Given the description of an element on the screen output the (x, y) to click on. 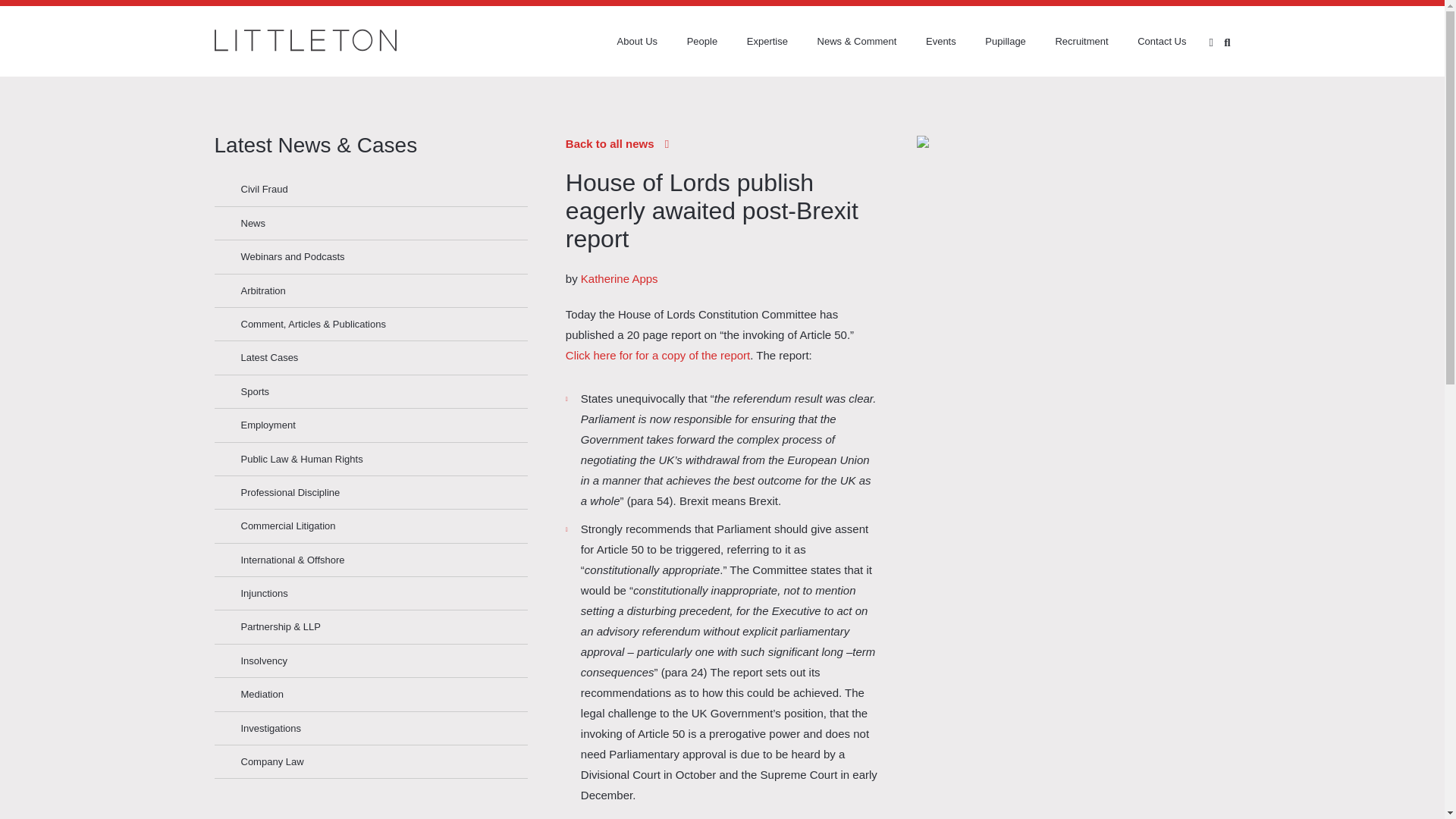
People (689, 41)
About Us (624, 41)
Expertise (753, 41)
